Given the description of an element on the screen output the (x, y) to click on. 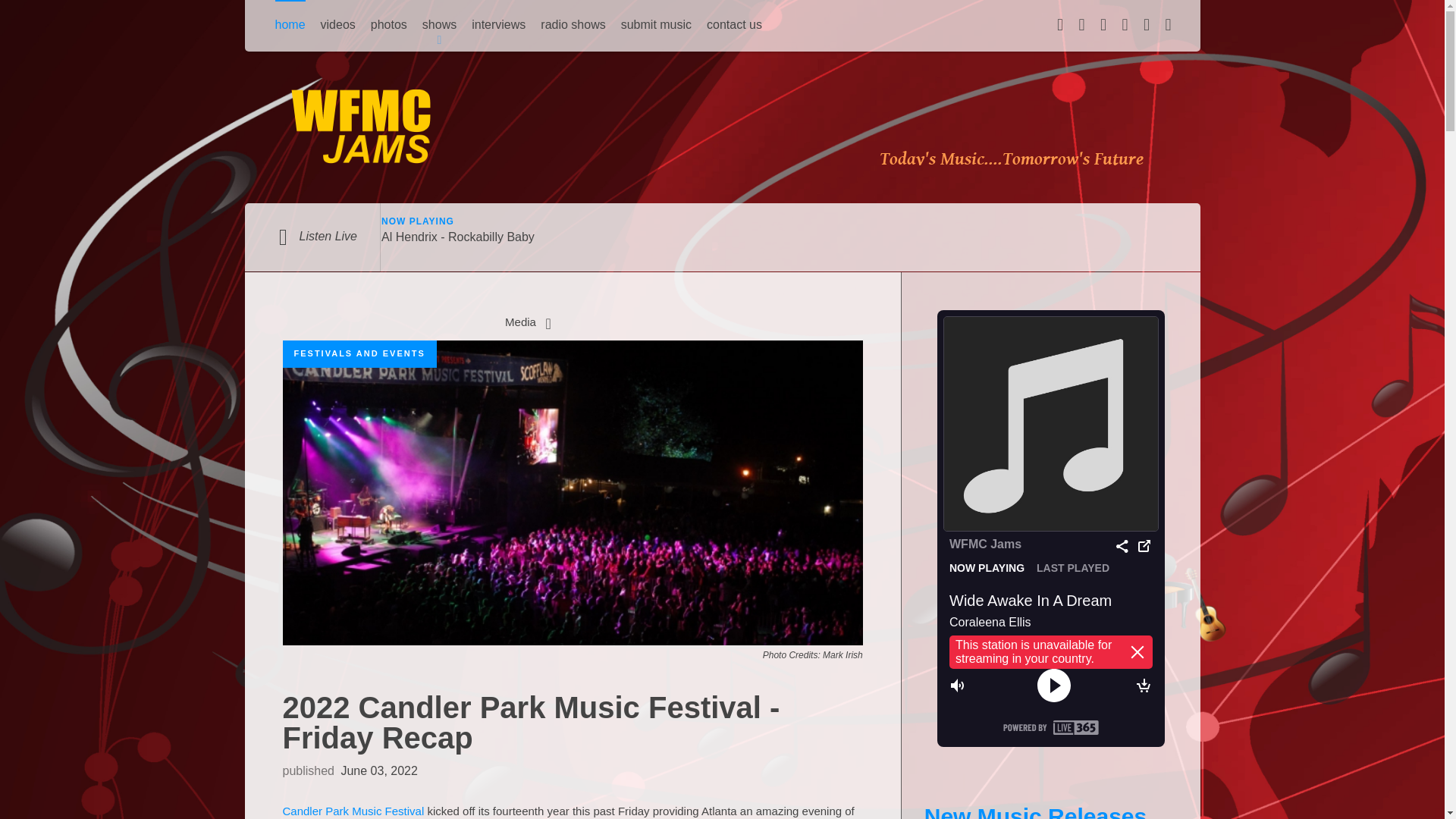
Image Gallery (547, 321)
interviews (498, 25)
Candler Park Music Festival (352, 810)
radio shows (572, 25)
Listen Live (311, 236)
Candler Park Music Festival (352, 810)
FESTIVALS AND EVENTS (359, 352)
contact us (733, 25)
Click to preview image (571, 491)
submit music (656, 25)
